Given the description of an element on the screen output the (x, y) to click on. 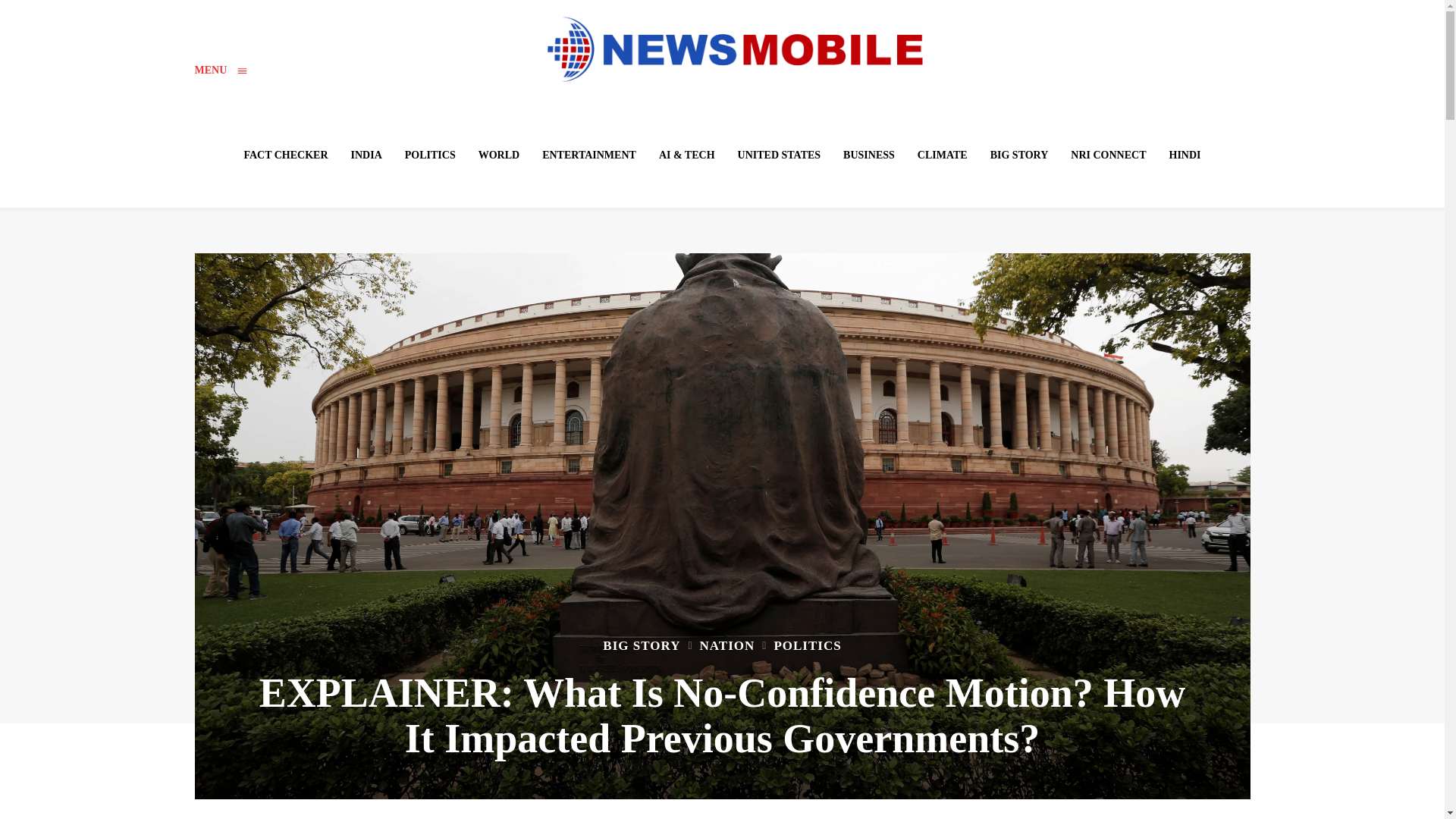
FACT CHECKER (284, 155)
Menu (220, 69)
MENU (220, 69)
INDIA (366, 155)
WORLD (498, 155)
ENTERTAINMENT (588, 155)
POLITICS (430, 155)
